Given the description of an element on the screen output the (x, y) to click on. 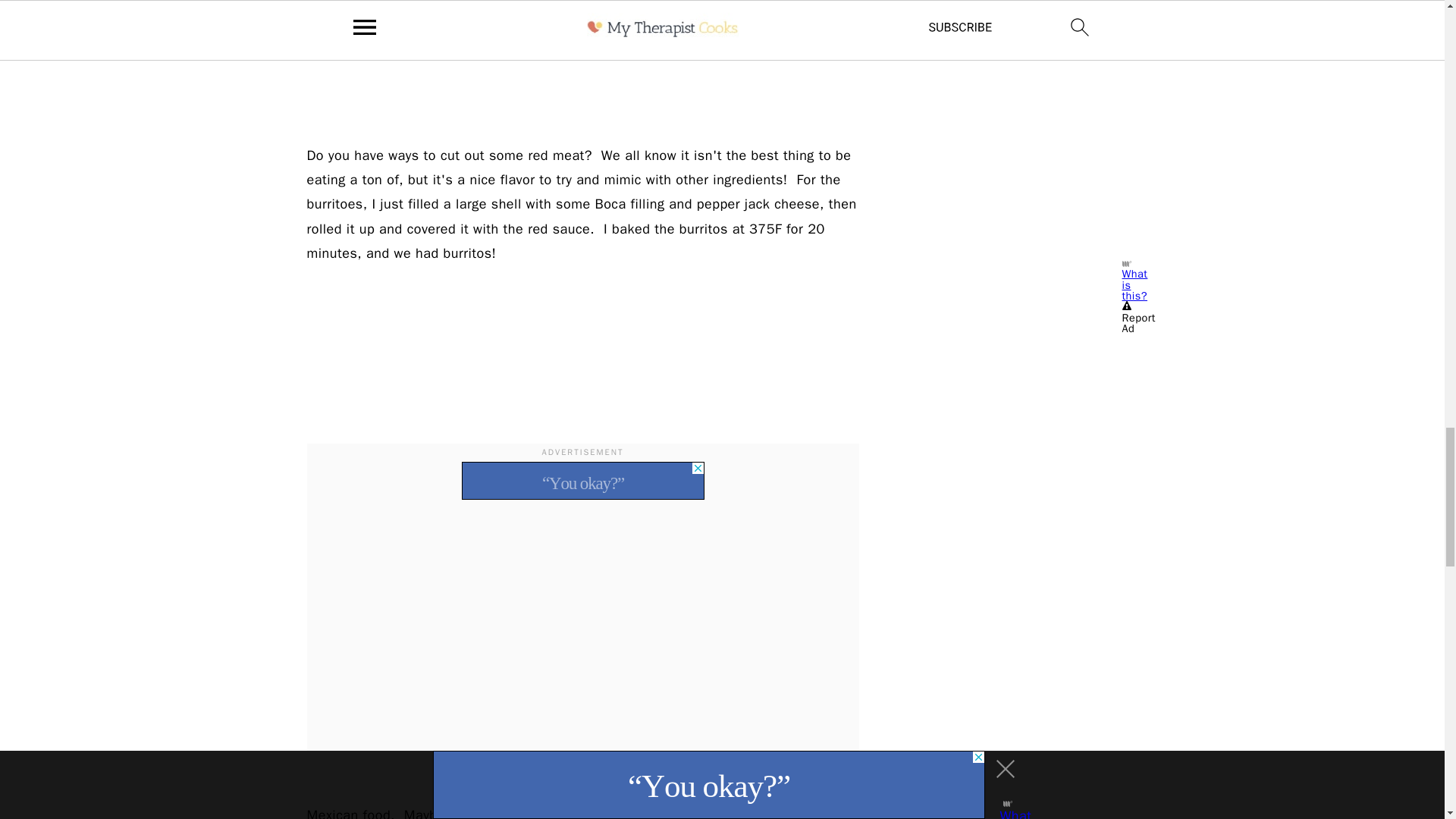
3rd party ad content (1023, 77)
3rd party ad content (582, 480)
